Given the description of an element on the screen output the (x, y) to click on. 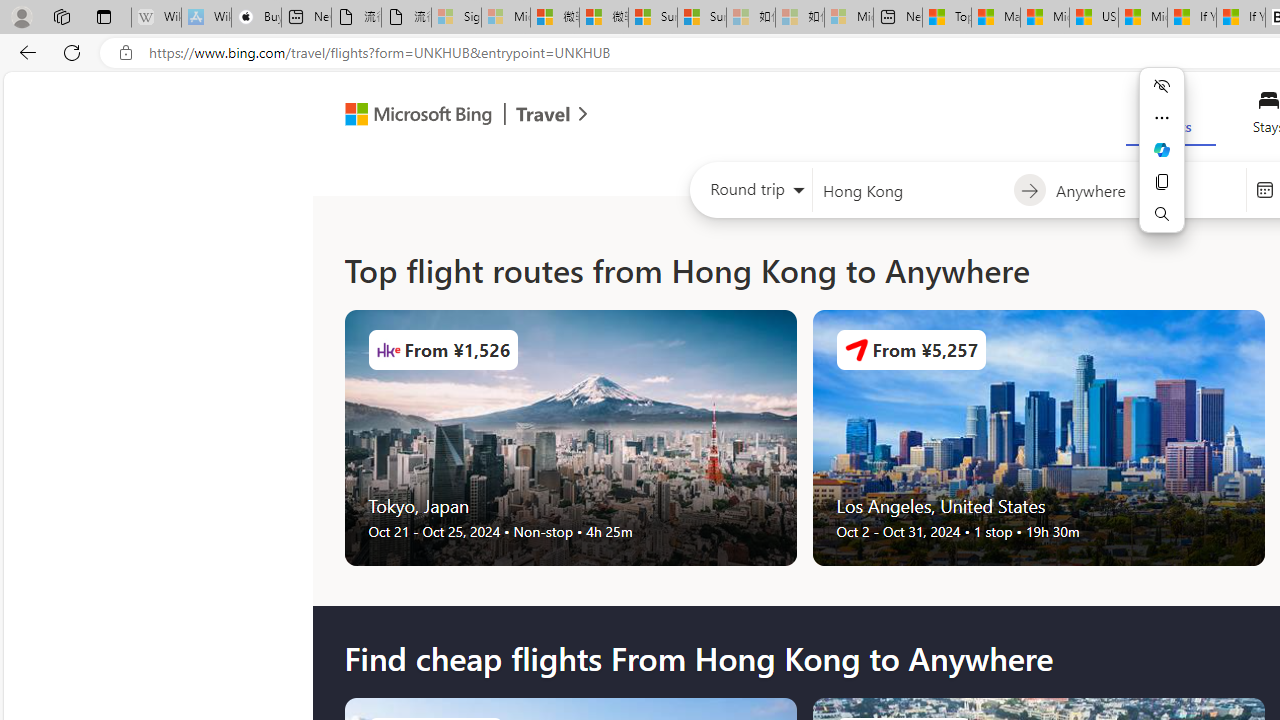
Ask Copilot (1162, 149)
Travel (543, 116)
Microsoft account | Account Checkup - Sleeping (848, 17)
Sign in to your Microsoft account - Sleeping (456, 17)
Hide menu (1162, 85)
More actions (1162, 117)
Top Stories - MSN (946, 17)
Airlines Logo (856, 349)
